Given the description of an element on the screen output the (x, y) to click on. 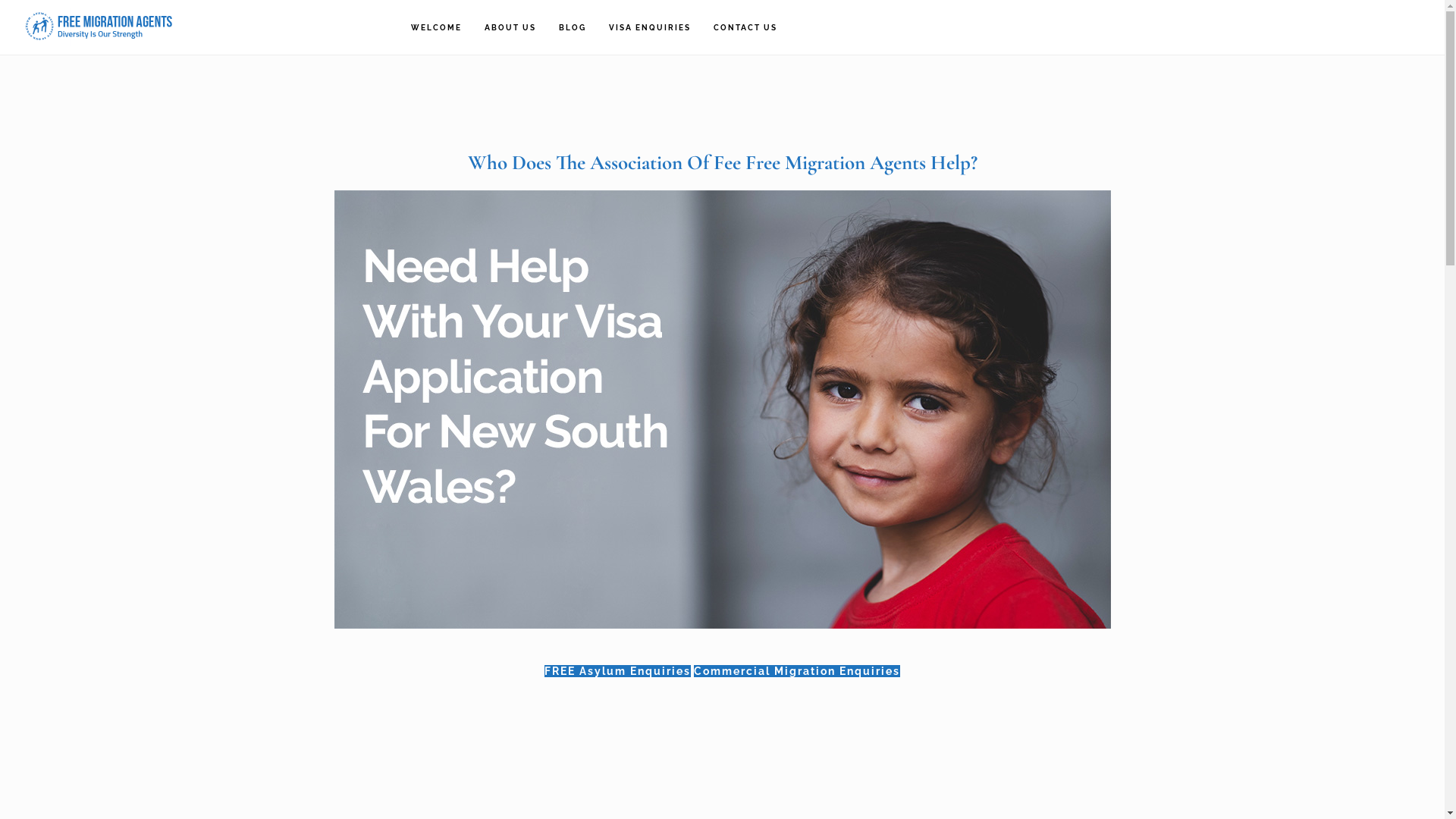
FREE Asylum Enquiries Element type: text (617, 671)
CONTACT US Element type: text (745, 27)
VISA ENQUIRIES Element type: text (649, 27)
WELCOME Element type: text (436, 27)
BLOG Element type: text (572, 27)
FREE MIGRATION AGENTS Element type: text (98, 26)
Skip to main content Element type: text (0, 0)
Commercial Migration Enquiries Element type: text (796, 671)
ABOUT US Element type: text (510, 27)
